Given the description of an element on the screen output the (x, y) to click on. 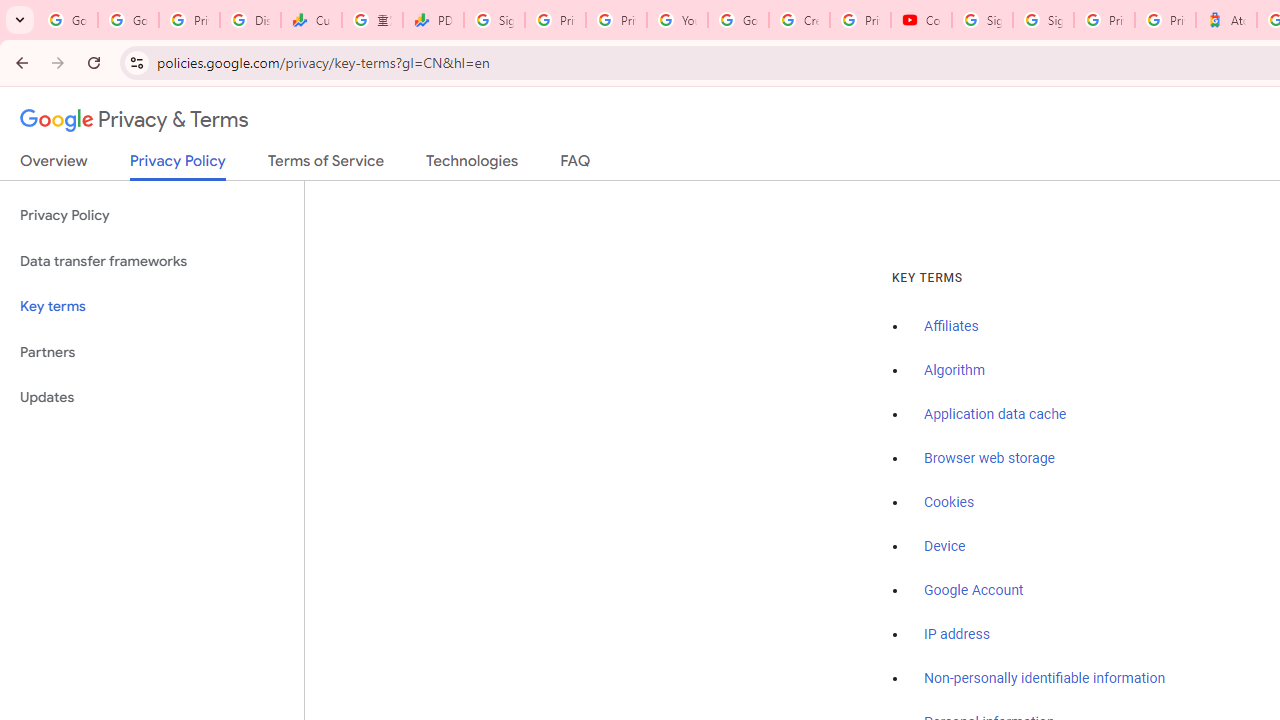
Application data cache (995, 415)
Sign in - Google Accounts (1042, 20)
YouTube (676, 20)
Currencies - Google Finance (310, 20)
